Given the description of an element on the screen output the (x, y) to click on. 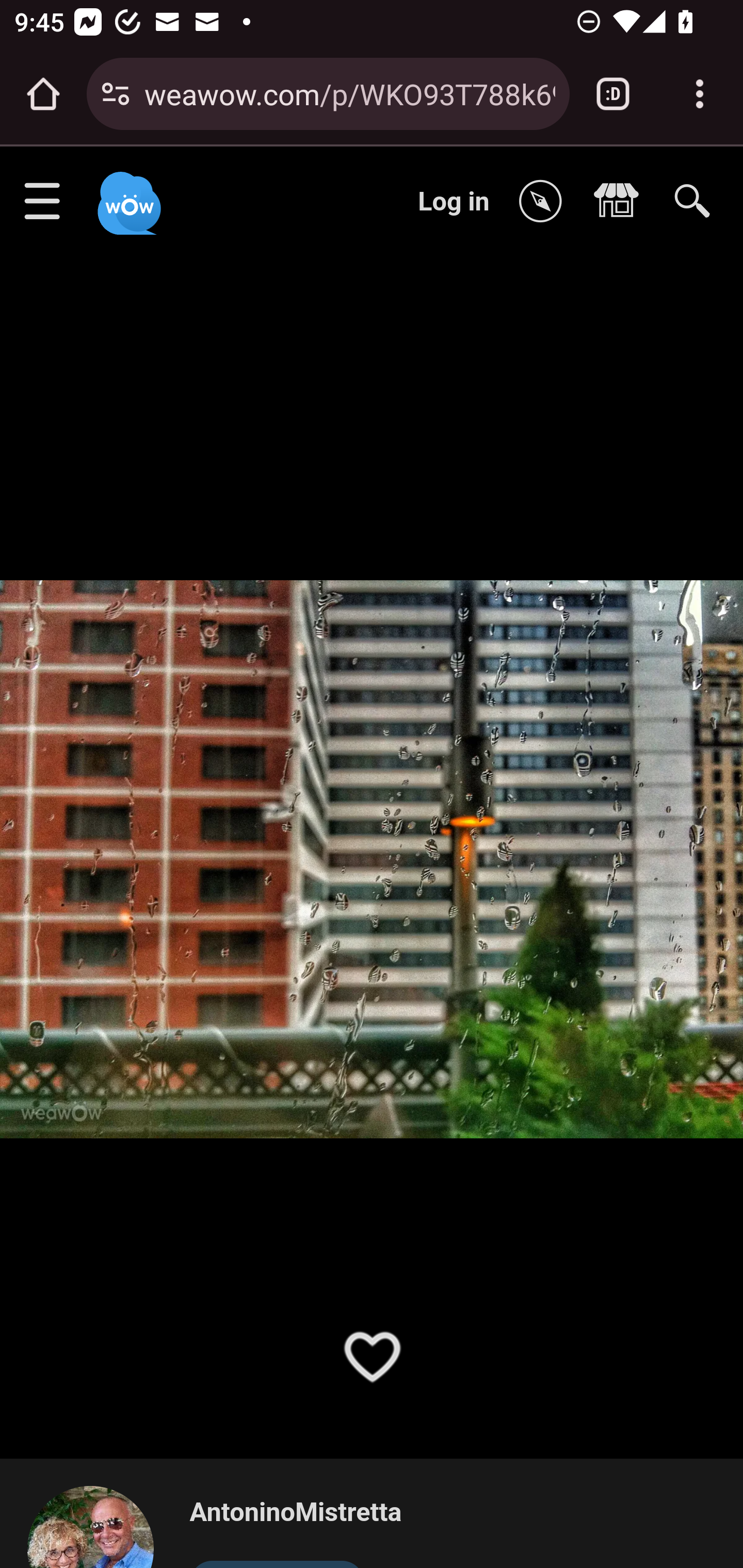
Open the home page (43, 93)
Connection is secure (115, 93)
Switch or close tabs (612, 93)
Customize and control Google Chrome (699, 93)
weawow.com/p/WKO93T788k690724 (349, 92)
Weawow (127, 194)
 (545, 201)
 (621, 201)
Log in (453, 201)
AntoninoMistretta (99, 1525)
AntoninoMistretta (294, 1513)
